Given the description of an element on the screen output the (x, y) to click on. 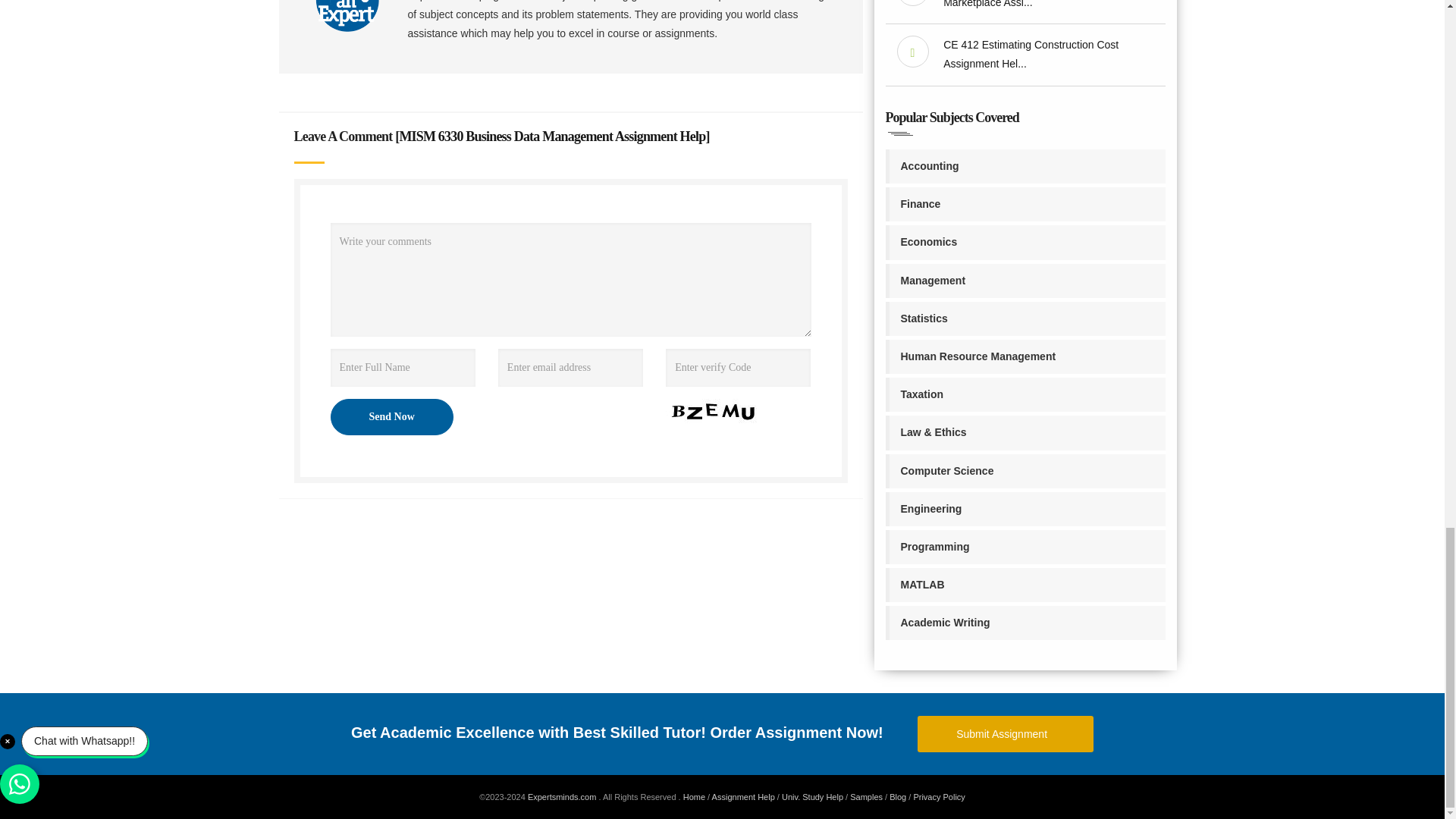
taxation assignment help (1025, 394)
HRM assignment help (1025, 356)
Computer Science assignment help (1025, 471)
university assignment help (812, 796)
Send Now (391, 416)
Engineering assignment help (1025, 509)
Programming assignment help (1025, 546)
Academic Writing Service (1025, 622)
Finance assignment help (1025, 204)
Economics assignment help (1025, 242)
